Given the description of an element on the screen output the (x, y) to click on. 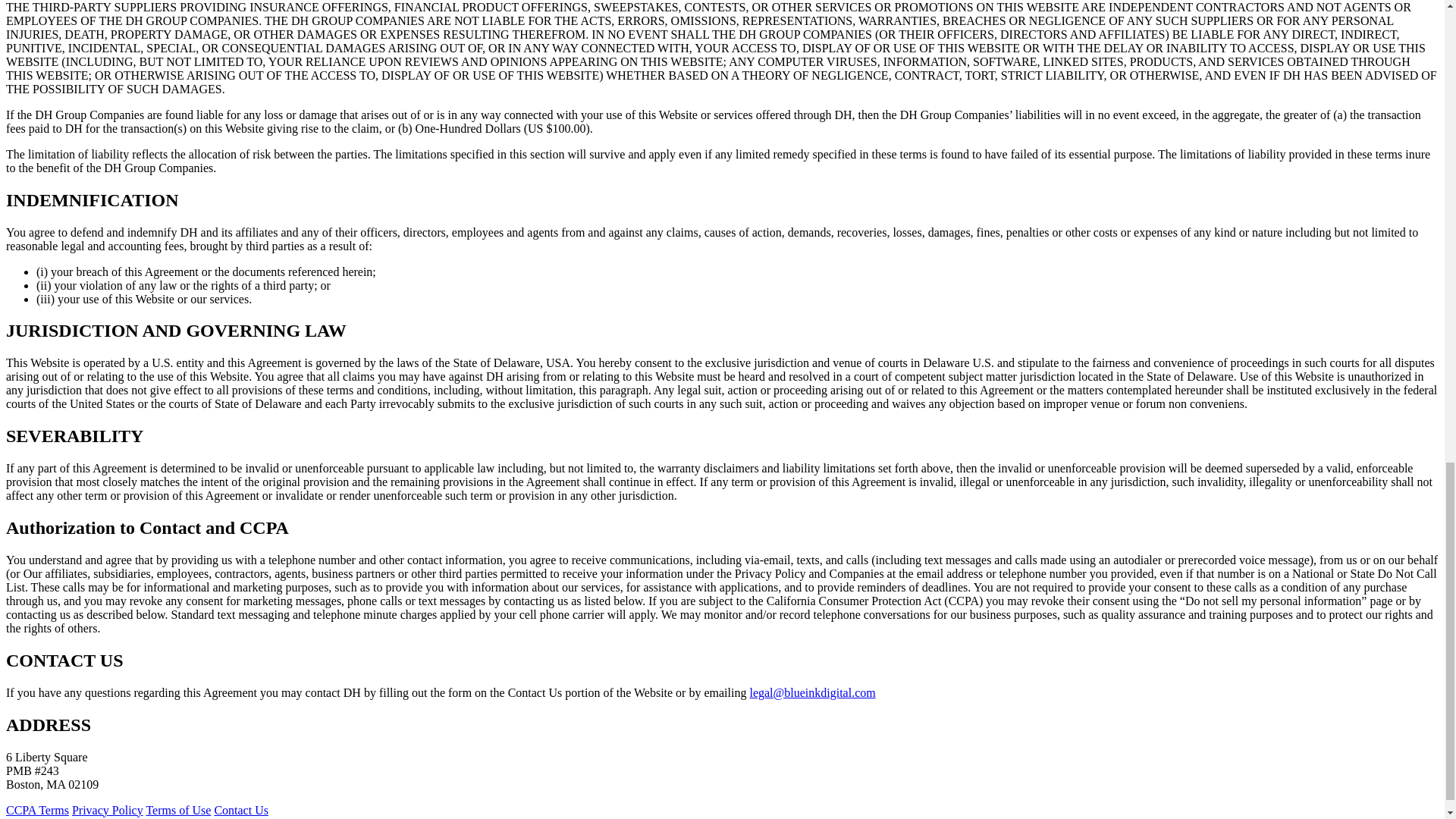
Terms of Use (178, 809)
CCPA Terms (36, 809)
Contact Us (240, 809)
Privacy Policy (106, 809)
